Given the description of an element on the screen output the (x, y) to click on. 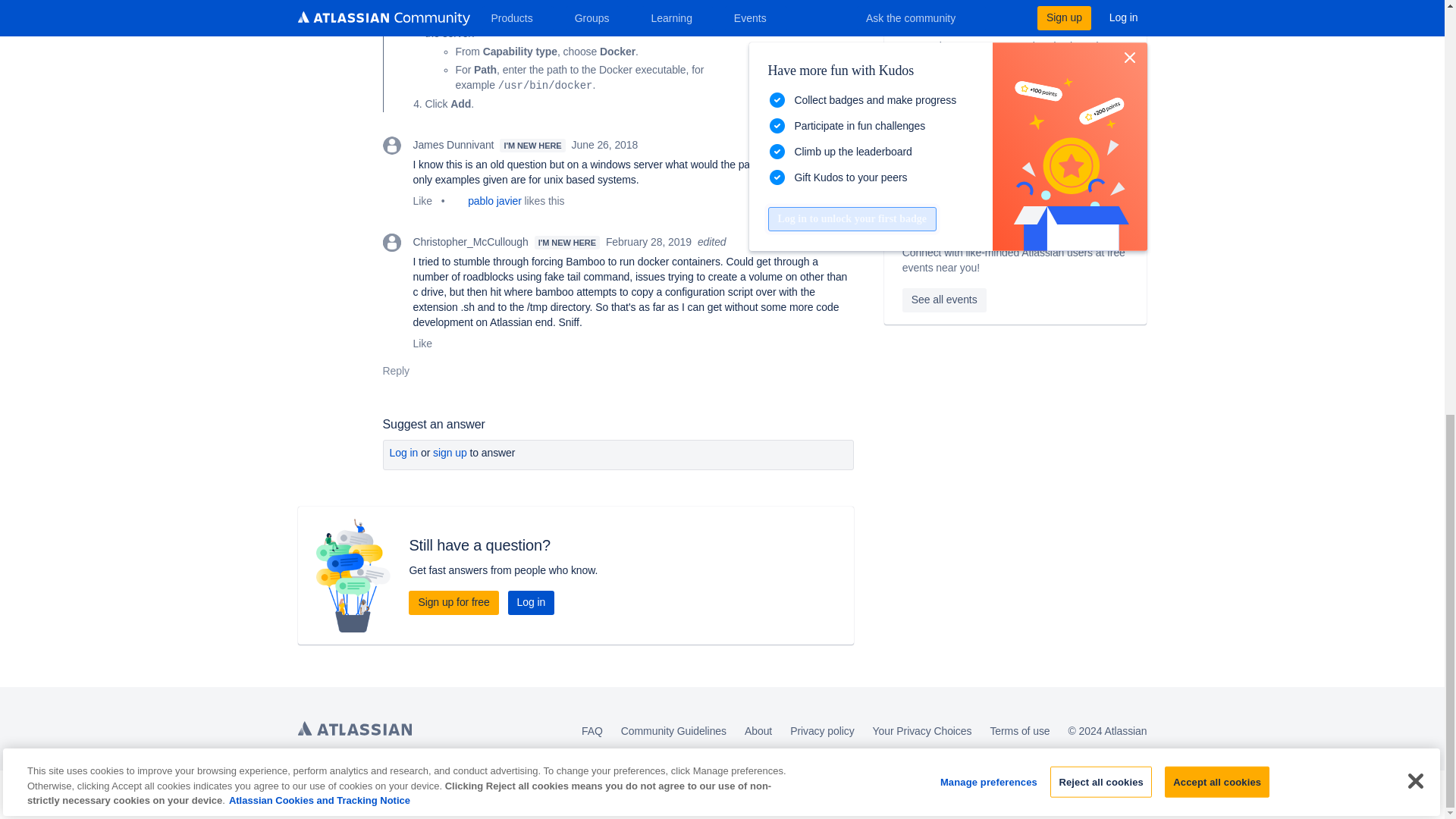
James Dunnivant (390, 145)
AUG Leaders (911, 224)
